Given the description of an element on the screen output the (x, y) to click on. 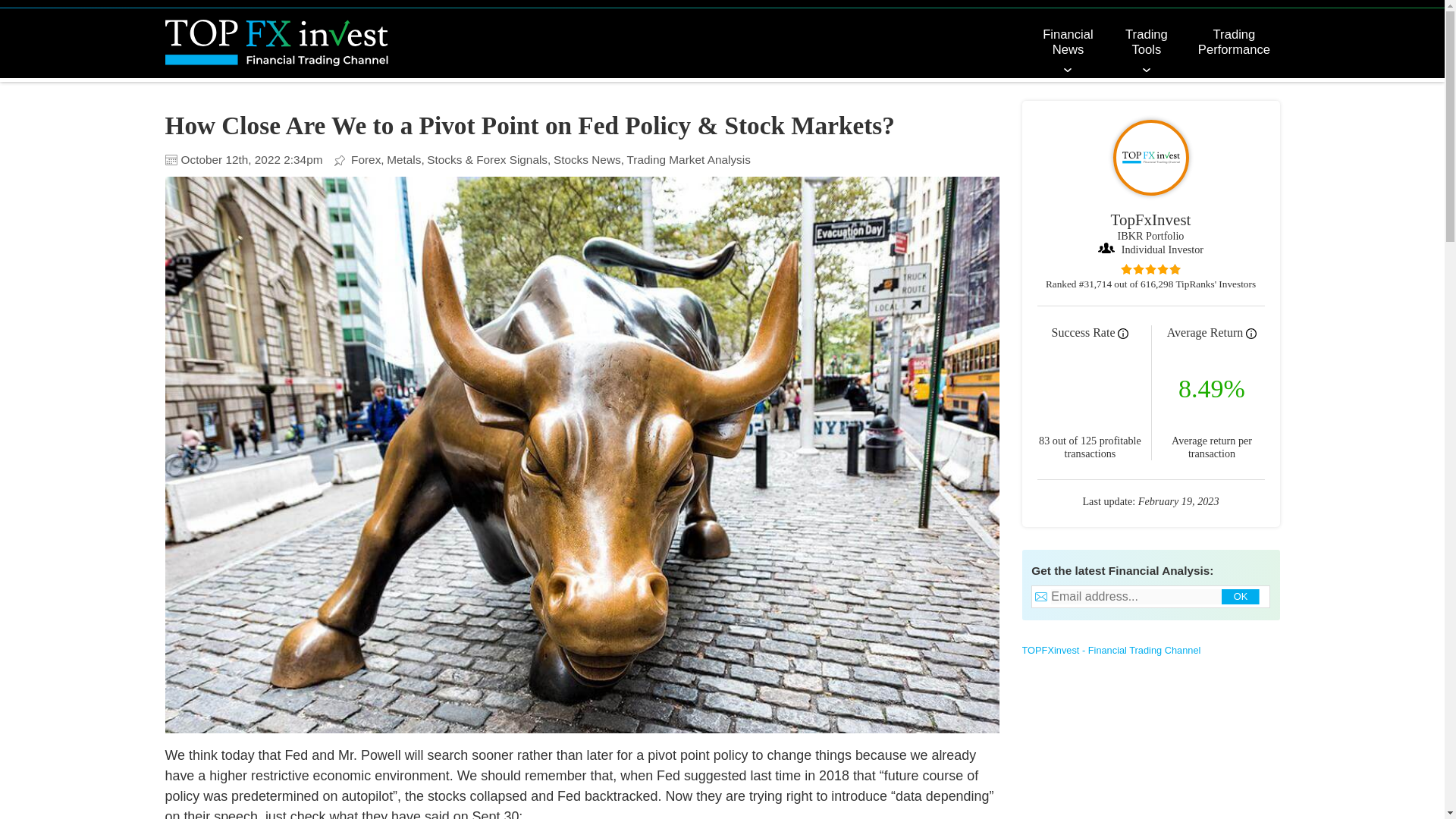
Forex (367, 159)
TOPFXinvest - Financial Trading Channel (1111, 650)
OK (1244, 598)
Metals (406, 159)
Stocks News (588, 159)
Trading Performance (1233, 42)
Please fill the email address. (1145, 596)
Trading Market Analysis (689, 159)
The average return of your transaction (1251, 333)
